Given the description of an element on the screen output the (x, y) to click on. 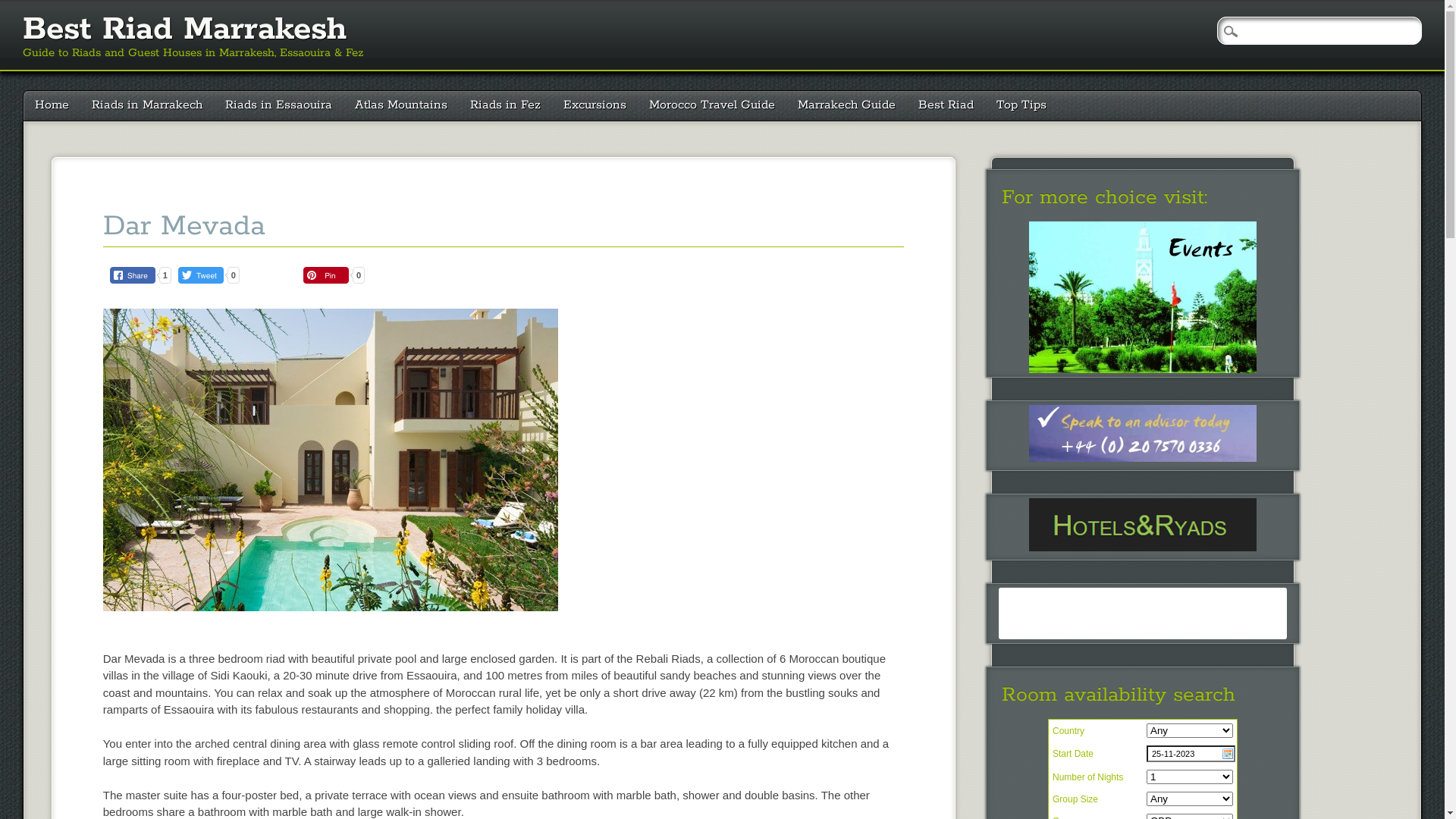
Atlas Mountains Element type: text (400, 105)
Top Tips Element type: text (1021, 105)
Skip to content Element type: text (55, 98)
Best Riad Element type: text (945, 105)
Search Element type: text (22, 8)
Excursions Element type: text (594, 105)
Riads in Essaouira Element type: text (278, 105)
Home Element type: text (51, 105)
Riads in Marrakech Element type: text (146, 105)
Marrakech Guide Element type: text (846, 105)
Best Riad Marrakesh Element type: text (184, 29)
Morocco Travel Guide Element type: text (711, 105)
Riads in Fez Element type: text (505, 105)
